Given the description of an element on the screen output the (x, y) to click on. 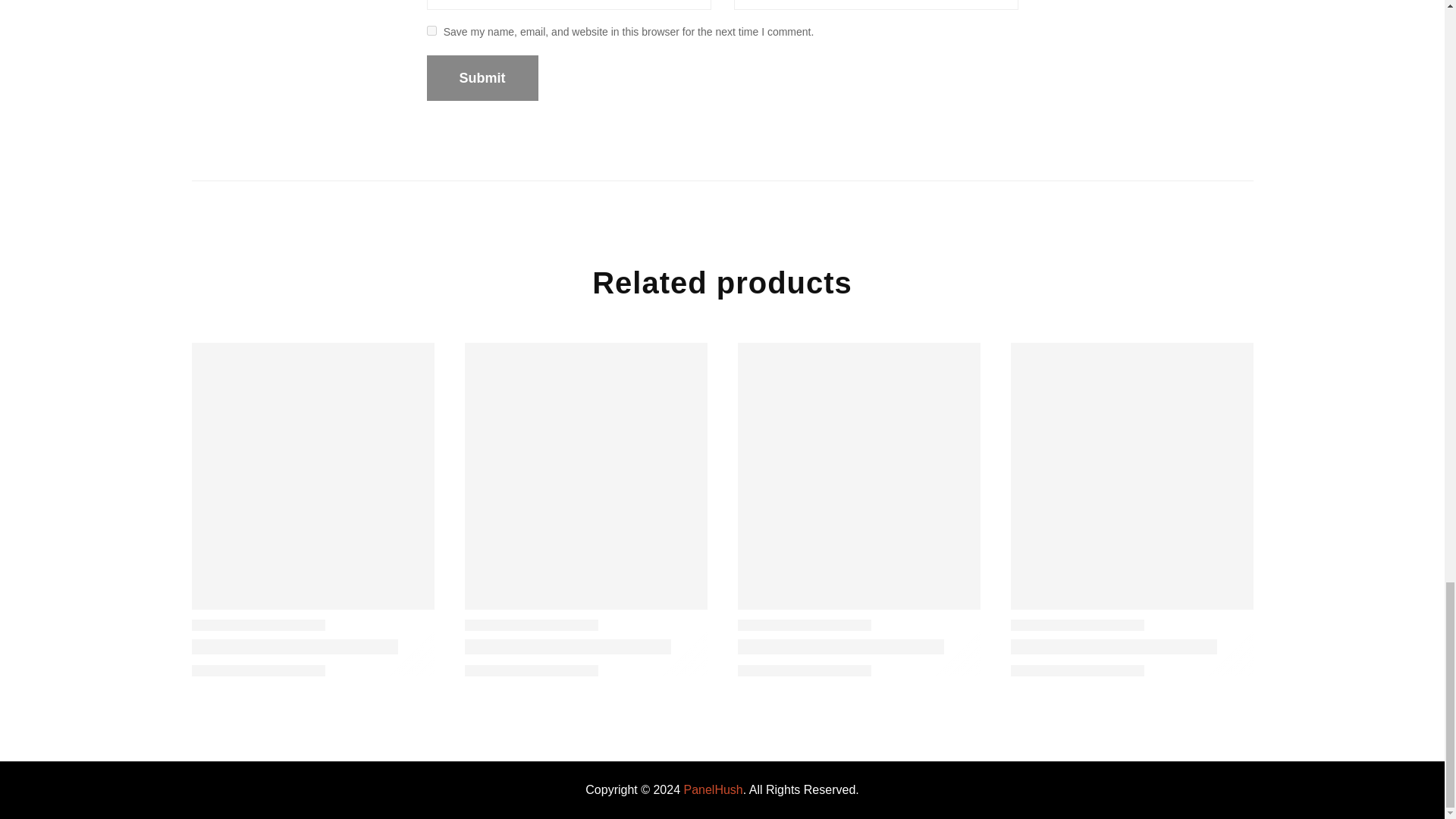
PanelHush (712, 789)
Submit (481, 77)
Submit (481, 77)
yes (430, 30)
